Given the description of an element on the screen output the (x, y) to click on. 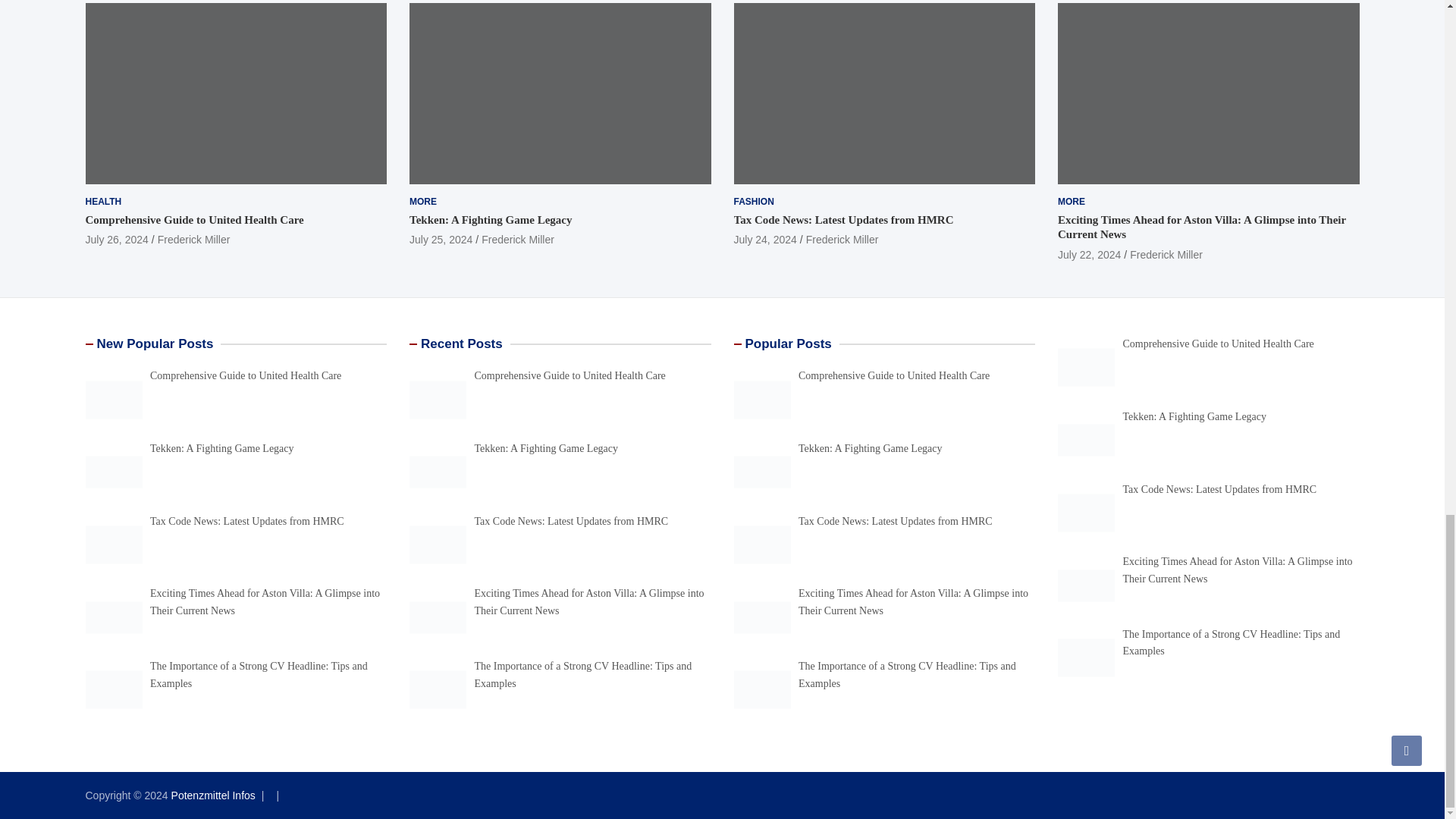
Potenzmittel Infos (213, 795)
Tax Code News: Latest Updates from HMRC (764, 239)
Comprehensive Guide to United Health Care (116, 239)
Tekken: A Fighting Game Legacy (440, 239)
